Given the description of an element on the screen output the (x, y) to click on. 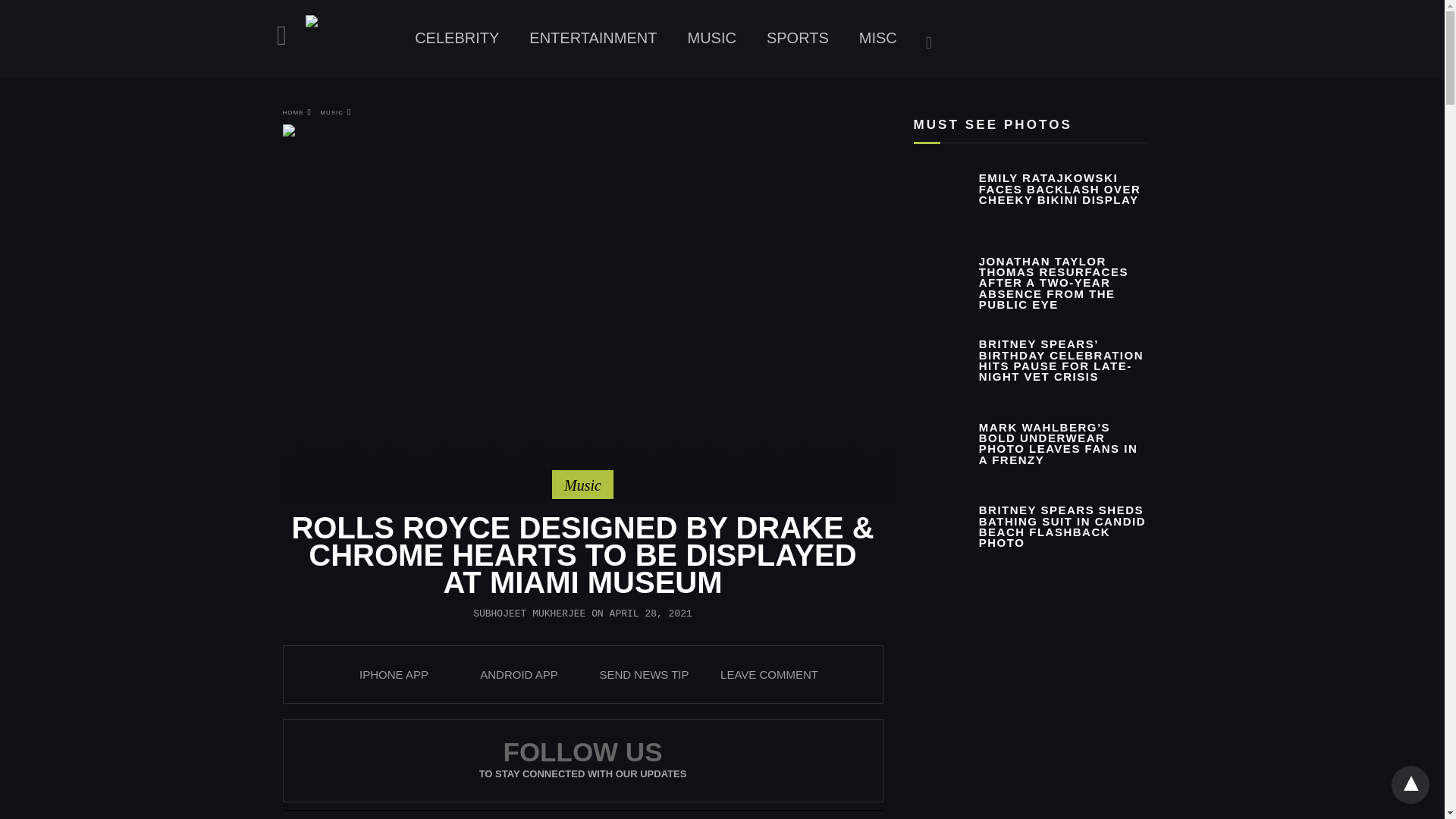
SPORTS (797, 37)
Entertainment News (592, 37)
MISC (878, 37)
Thirsty for News (351, 41)
LEAVE COMMENT (769, 674)
Music News (711, 37)
Sports News (797, 37)
SEND NEWS TIP (643, 674)
CELEBRITY (455, 37)
HOME (296, 112)
